Given the description of an element on the screen output the (x, y) to click on. 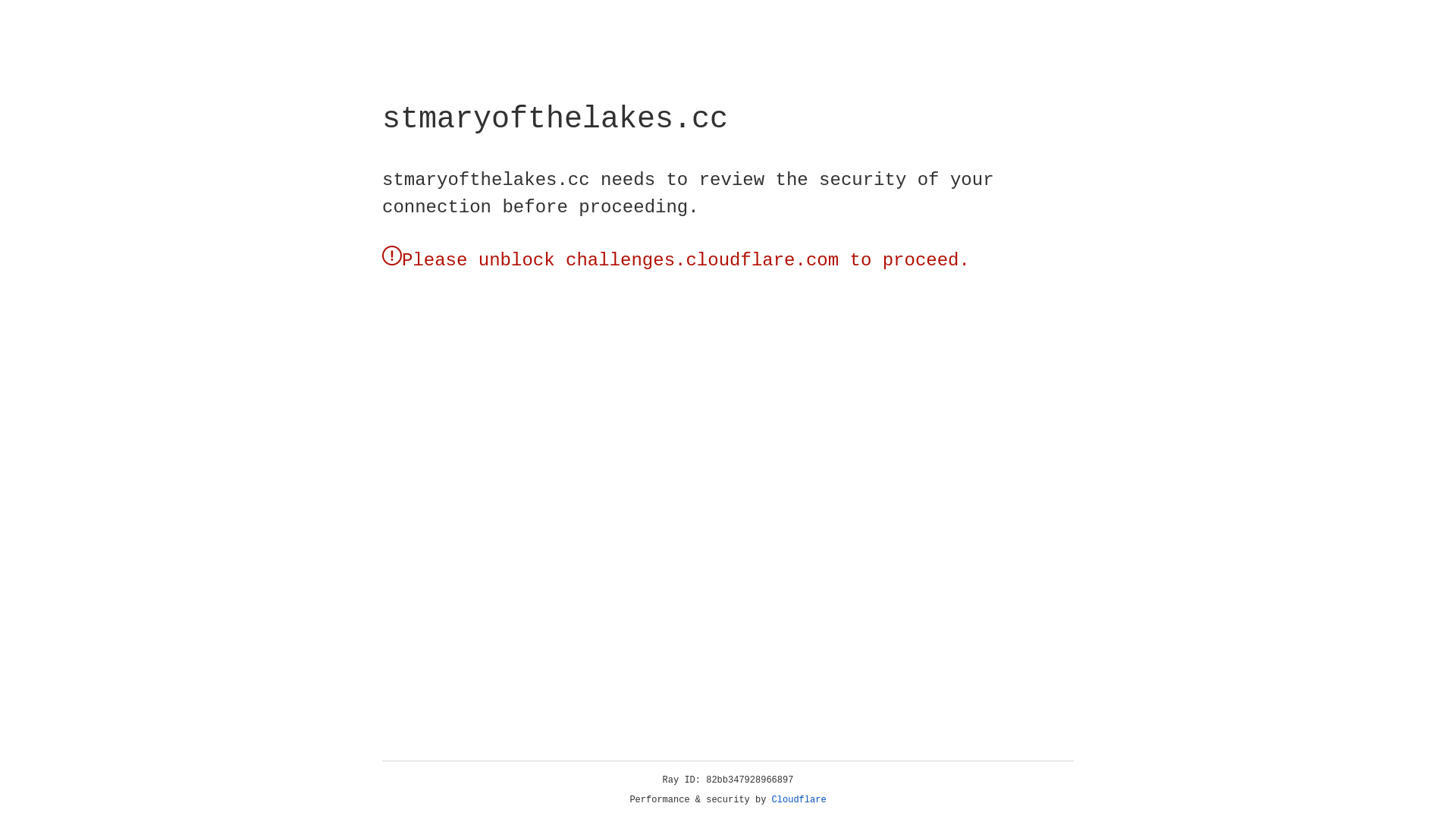
Cloudflare Element type: text (798, 799)
